Given the description of an element on the screen output the (x, y) to click on. 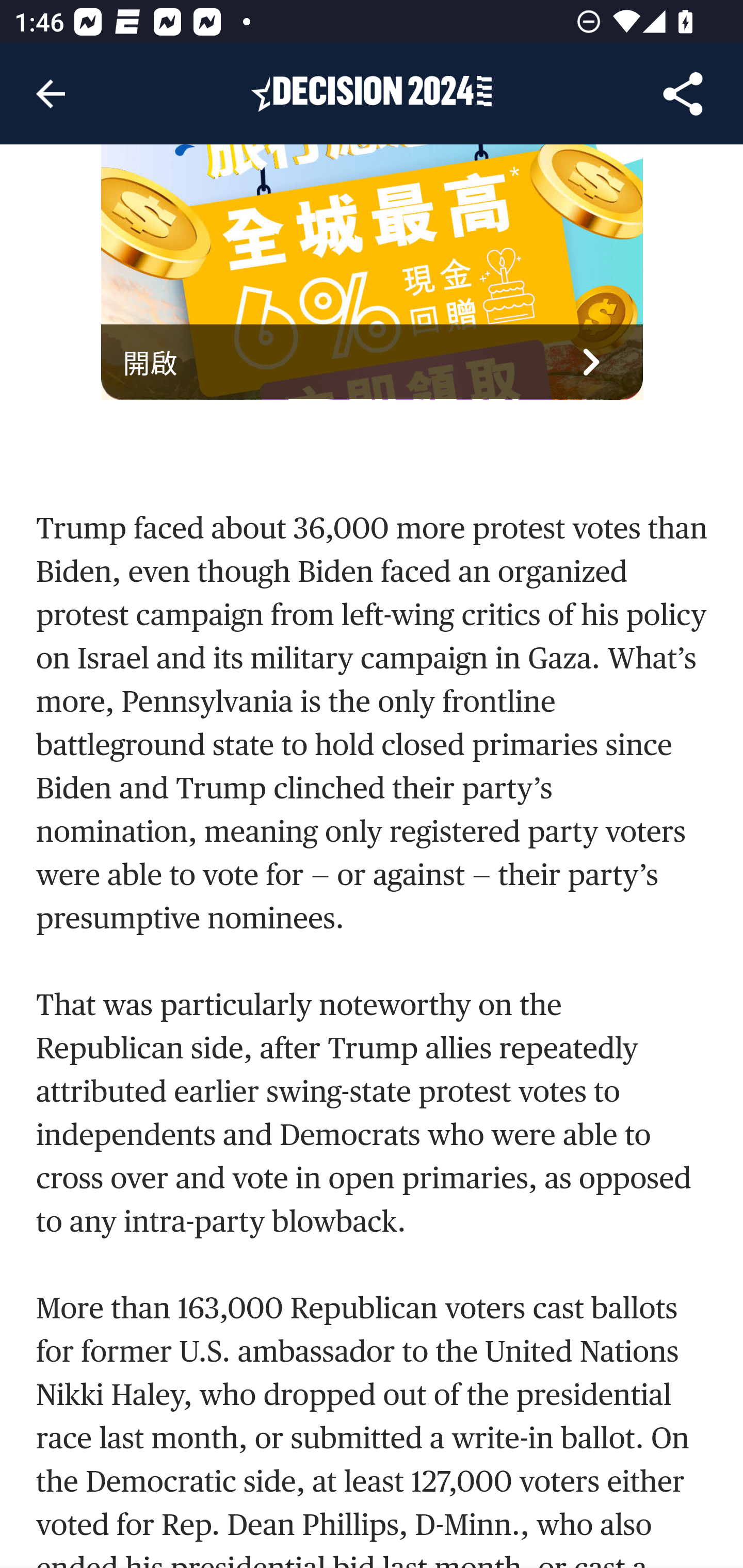
Navigate up (50, 93)
Share Article, button (683, 94)
Header, Decision 2024 (371, 93)
開啟 (372, 362)
